Given the description of an element on the screen output the (x, y) to click on. 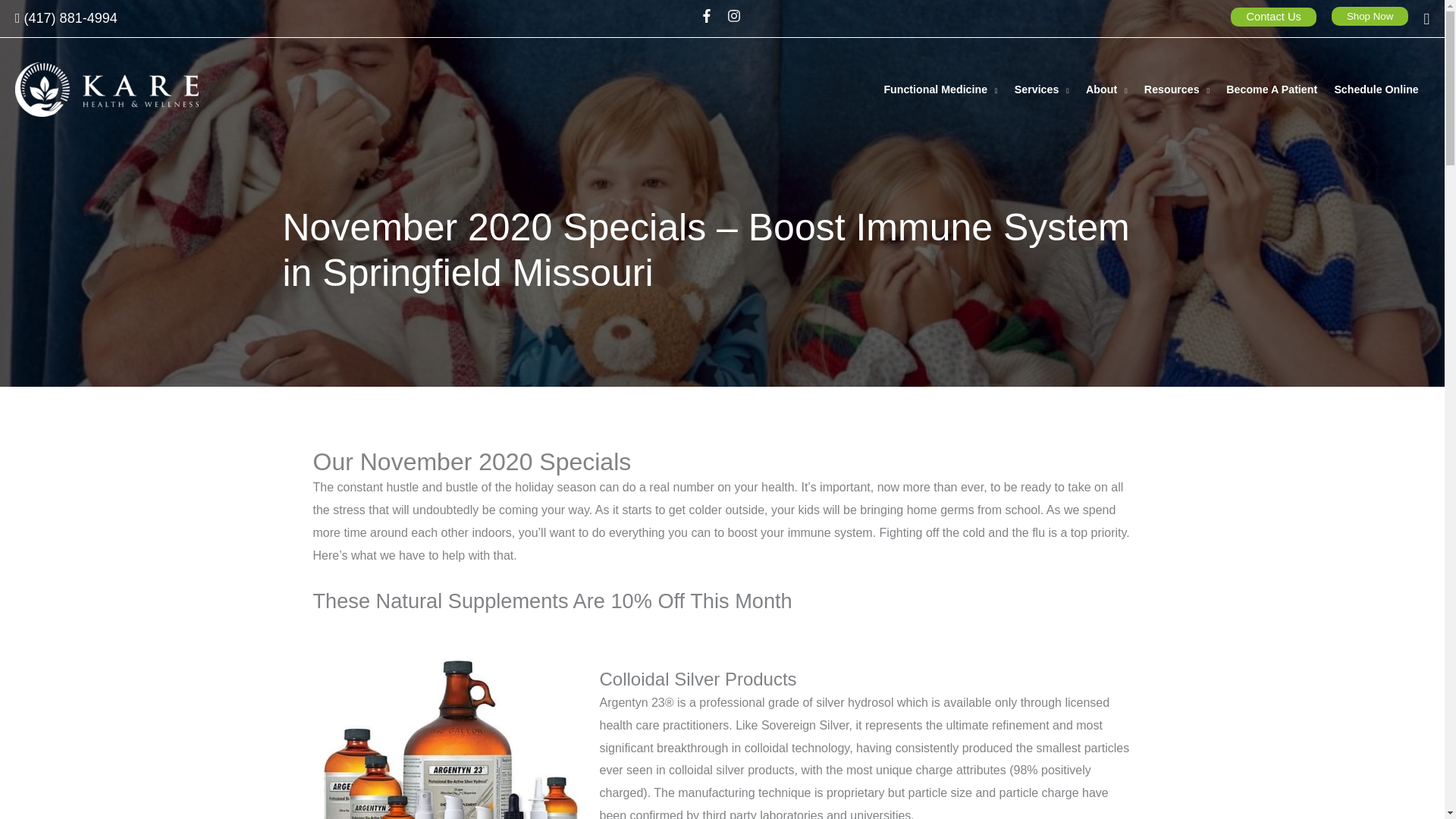
Functional Medicine (942, 89)
Contact Us (1273, 16)
Shop Now (1370, 15)
Services (1044, 89)
